Given the description of an element on the screen output the (x, y) to click on. 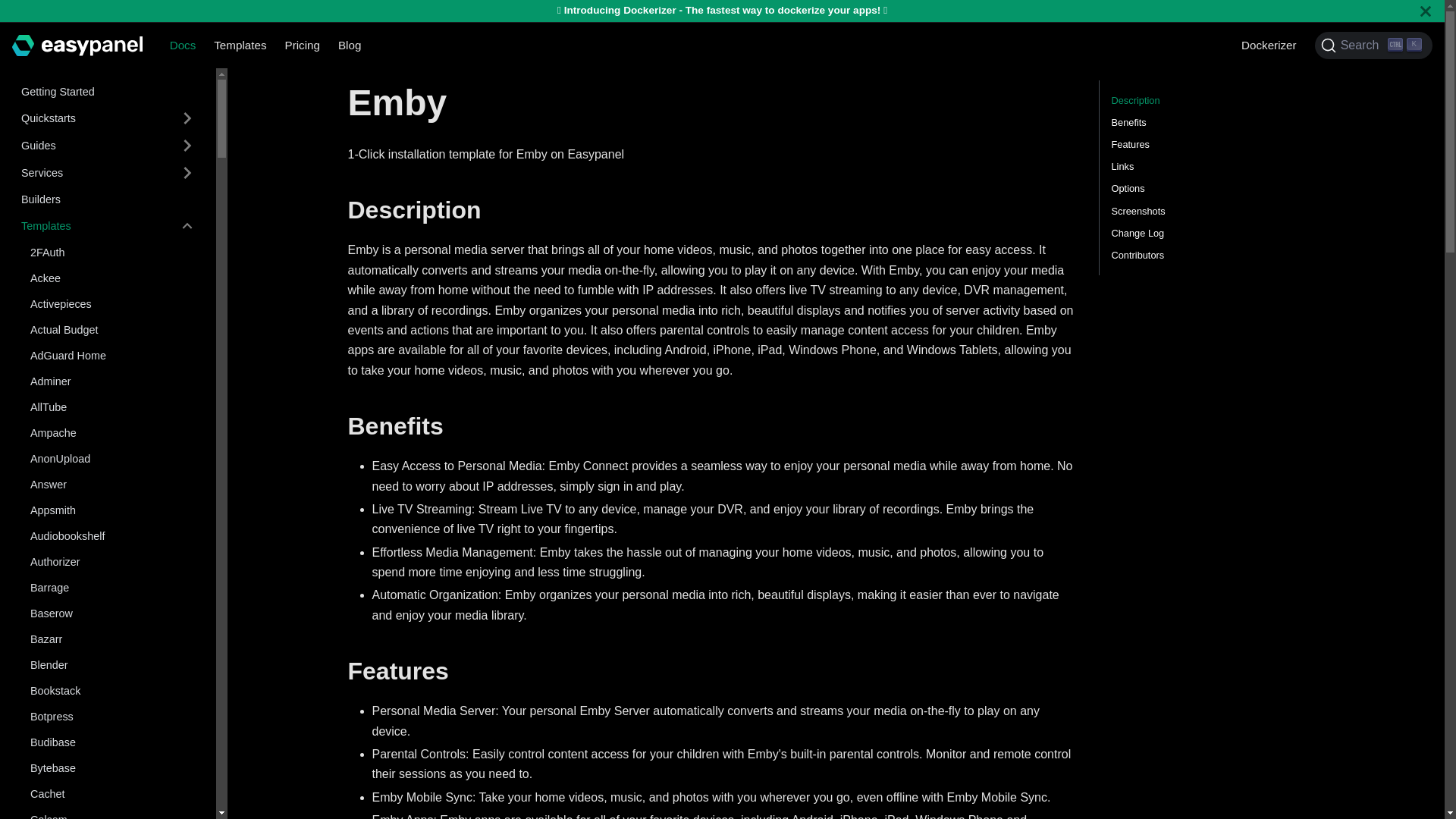
Getting Started (107, 91)
Docs (182, 44)
Builders (107, 199)
AdGuard Home (112, 354)
Ampache (112, 432)
Blog (349, 44)
Bookstack (112, 690)
Ackee (112, 277)
Authorizer (112, 561)
Adminer (112, 381)
Activepieces (112, 303)
Pricing (302, 44)
Barrage (112, 587)
AllTube (112, 406)
Blender (112, 664)
